Given the description of an element on the screen output the (x, y) to click on. 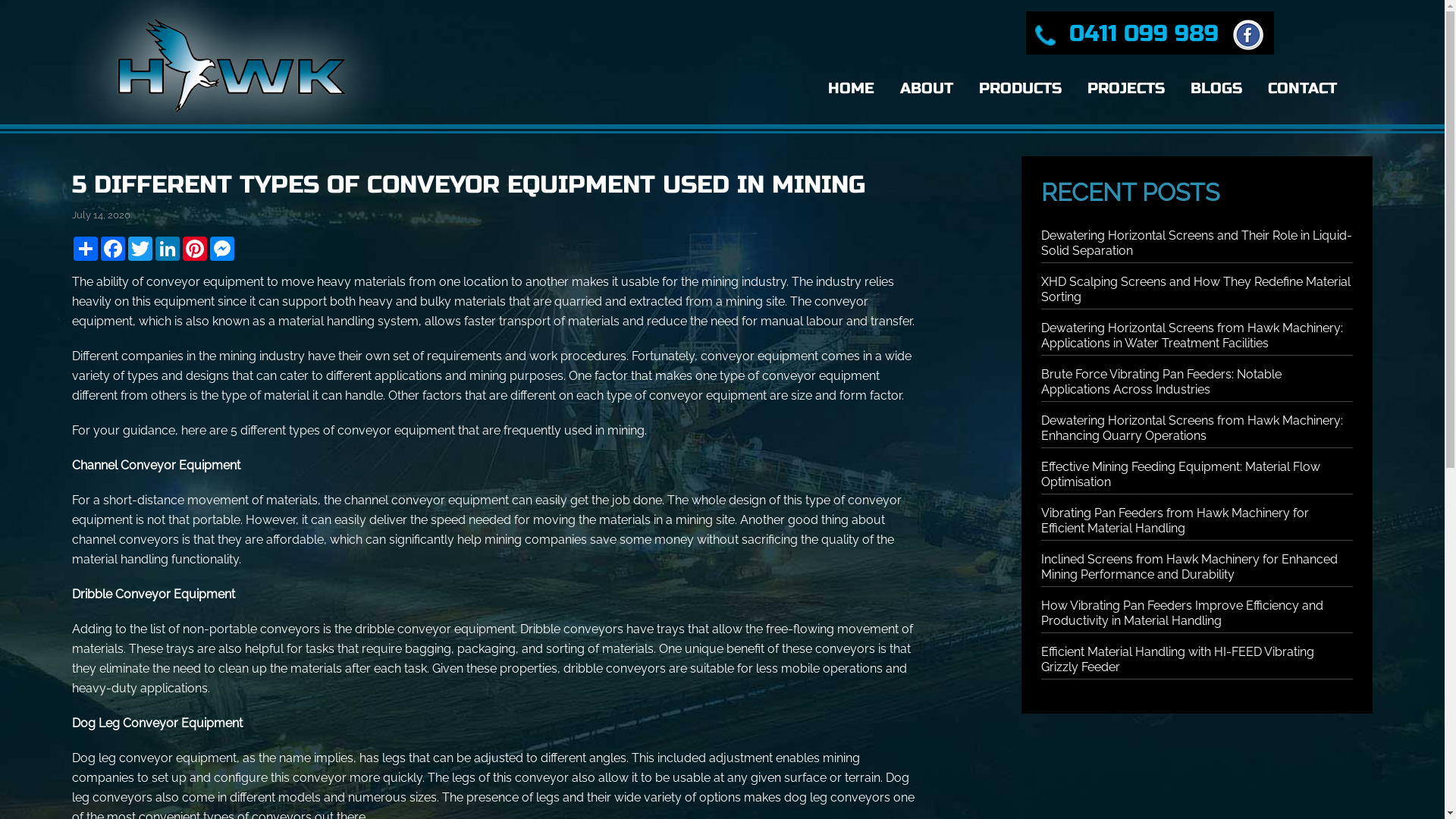
Share Element type: text (85, 248)
XHD Scalping Screens and How They Redefine Material Sorting Element type: text (1195, 289)
Messenger Element type: text (221, 248)
  Element type: text (1244, 33)
facebook Element type: hover (1248, 34)
BLOGS Element type: text (1216, 88)
Pinterest Element type: text (194, 248)
PRODUCTS Element type: text (1019, 88)
ABOUT Element type: text (926, 88)
facebook Element type: hover (1244, 33)
Facebook Element type: text (112, 248)
CONTACT Element type: text (1302, 88)
PROJECTS Element type: text (1125, 88)
HOME Element type: text (851, 88)
LinkedIn Element type: text (167, 248)
Twitter Element type: text (139, 248)
